Given the description of an element on the screen output the (x, y) to click on. 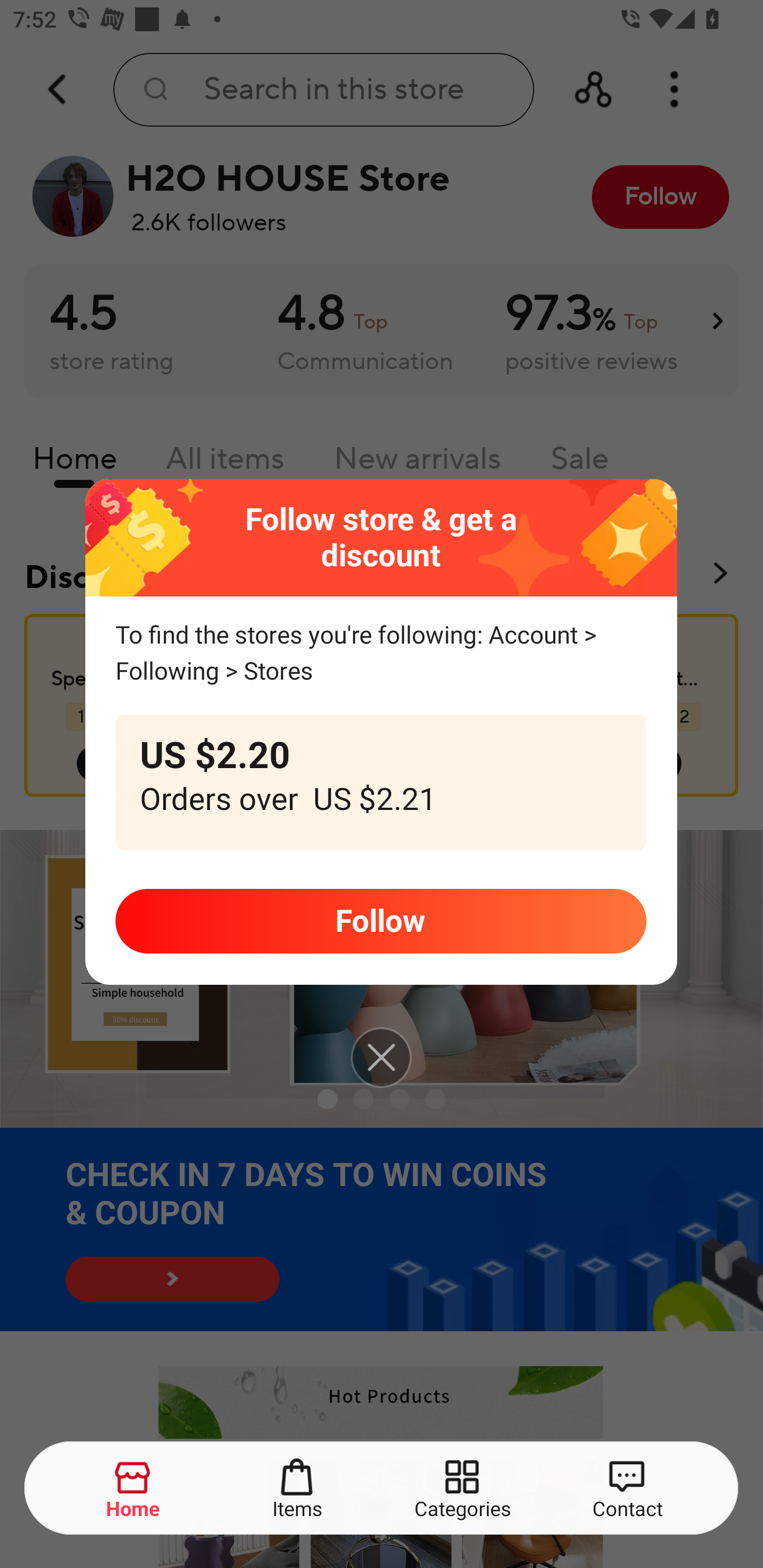
Follow (380, 921)
Home (133, 1488)
Items (297, 1488)
Categories (462, 1488)
Contact (627, 1488)
